Given the description of an element on the screen output the (x, y) to click on. 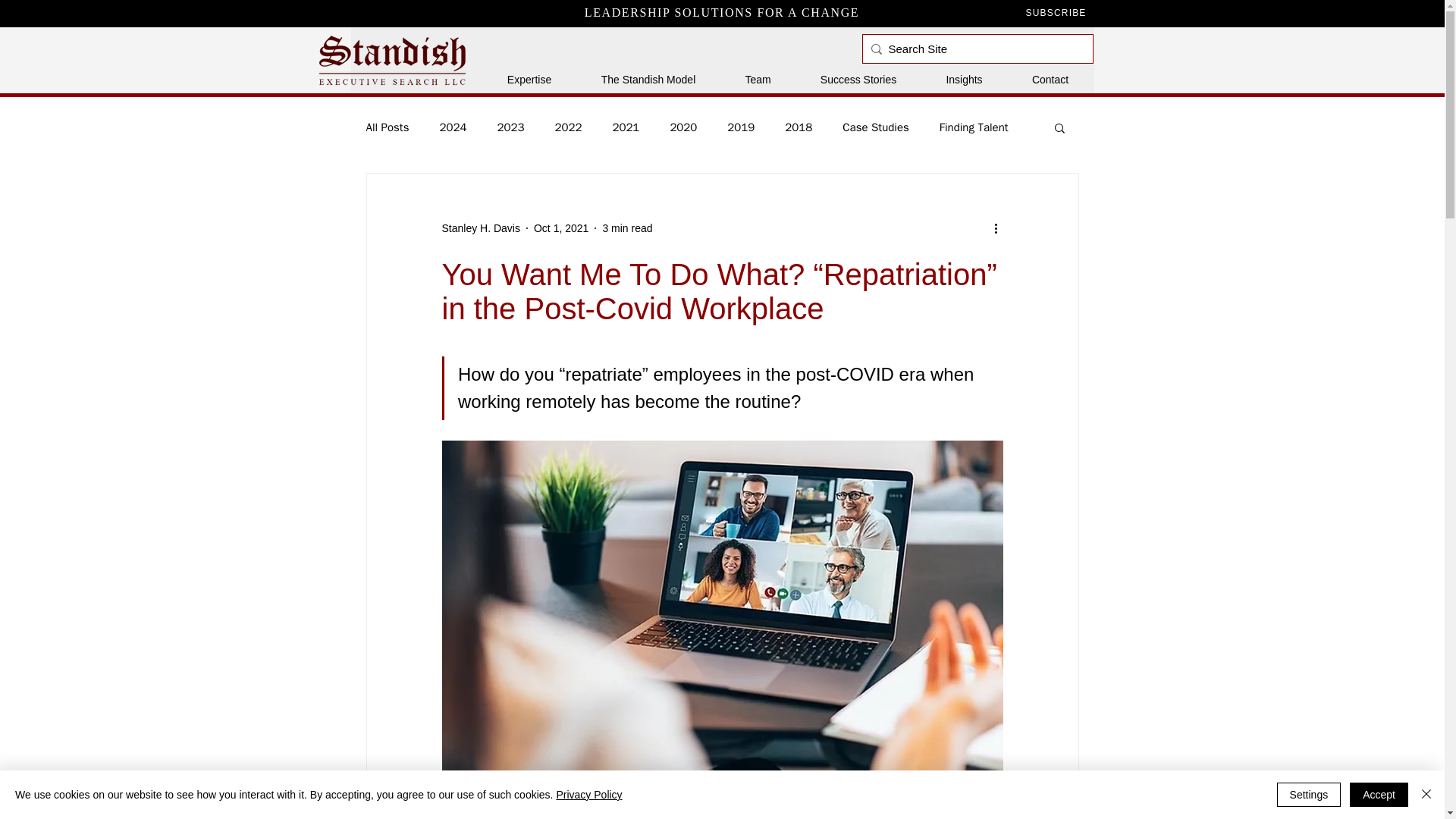
Stanley H. Davis (480, 227)
2022 (567, 126)
The Standish Model (647, 79)
Success Stories (858, 79)
3 min read (627, 227)
2018 (798, 126)
Oct 1, 2021 (561, 227)
2020 (683, 126)
Stanley H. Davis (480, 227)
Finding Talent (974, 126)
